Given the description of an element on the screen output the (x, y) to click on. 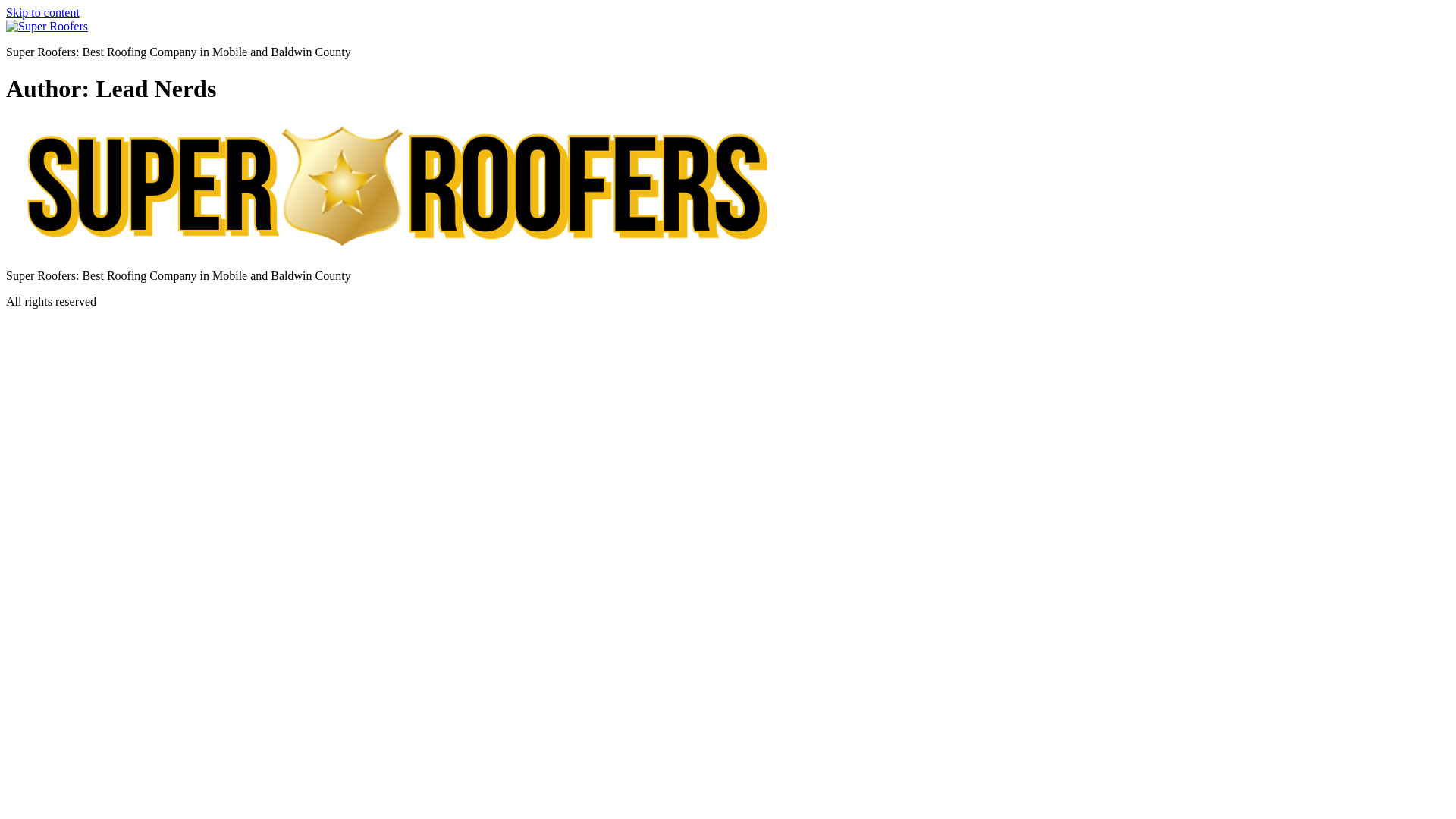
Skip to content Element type: text (42, 12)
